Given the description of an element on the screen output the (x, y) to click on. 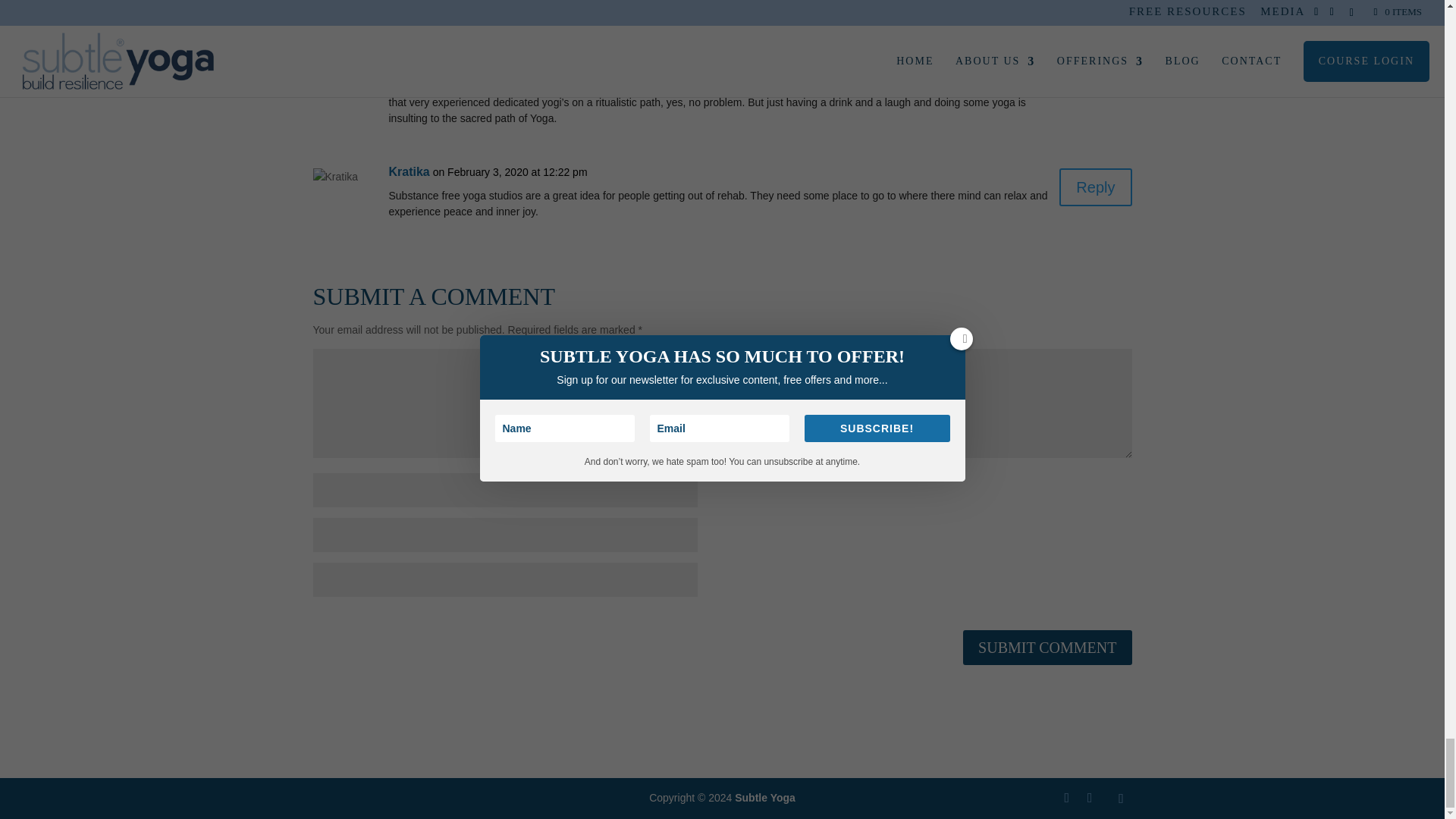
Submit Comment (1046, 647)
